Given the description of an element on the screen output the (x, y) to click on. 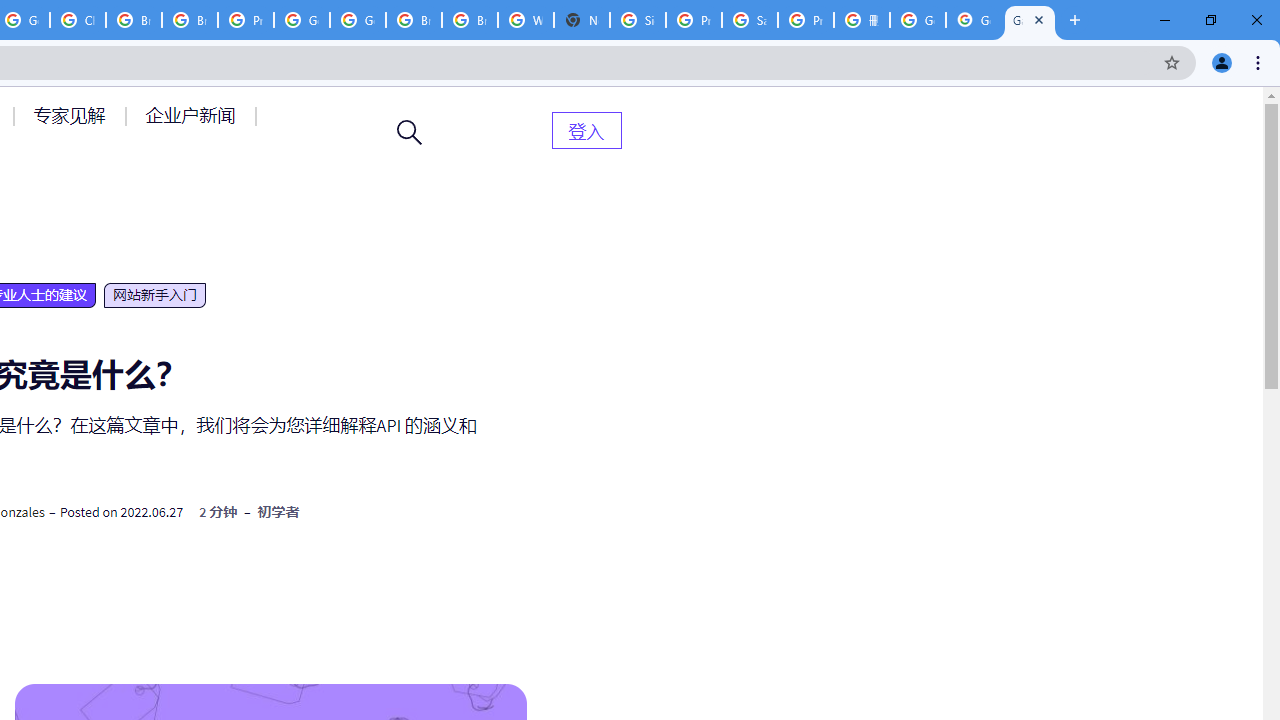
AutomationID: menu-item-77765 (194, 115)
Google Cloud Platform (301, 20)
Google Cloud Platform (358, 20)
